Given the description of an element on the screen output the (x, y) to click on. 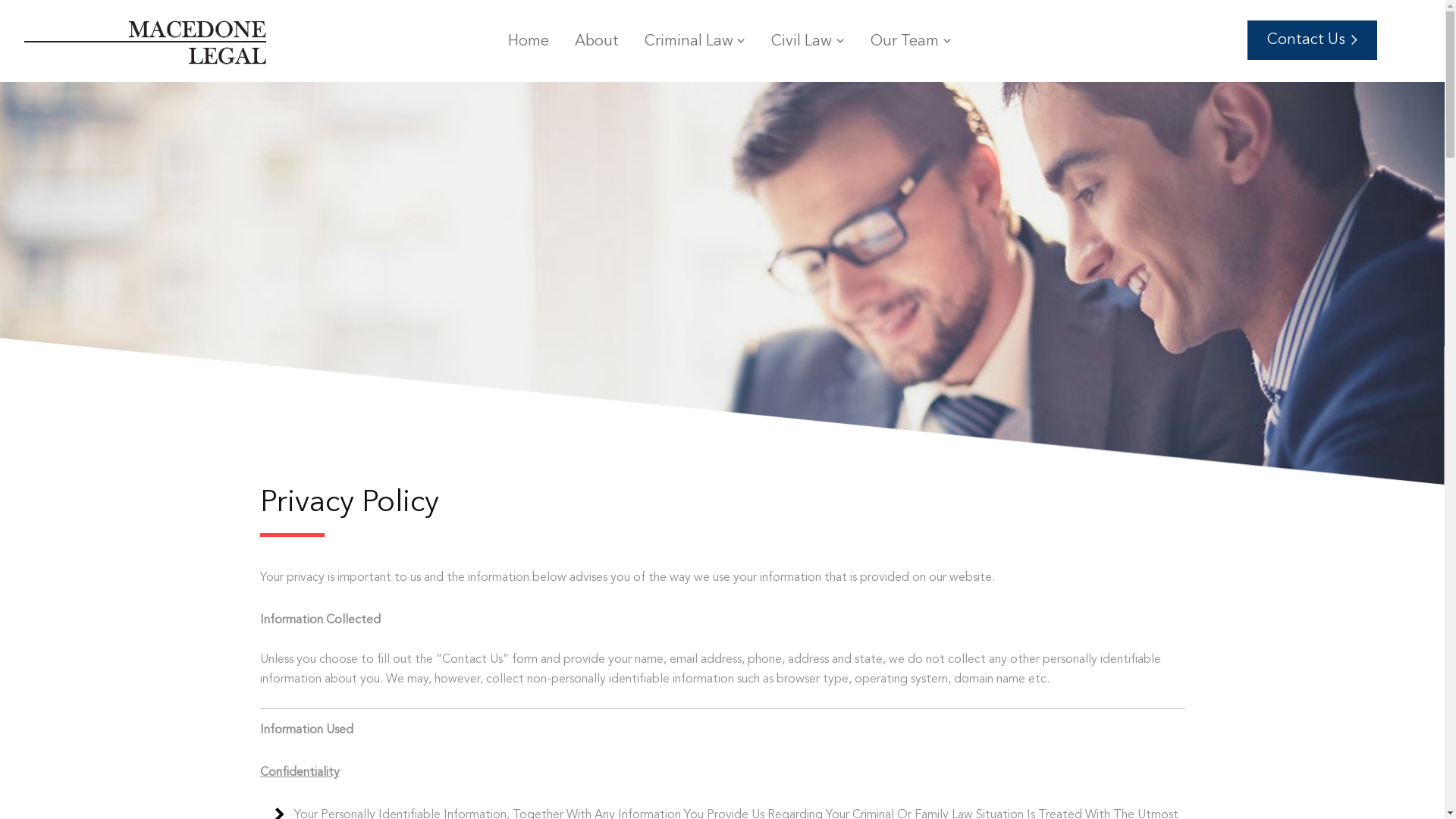
Civil Law Element type: text (801, 51)
Home Element type: text (528, 51)
Contact Us Element type: text (1312, 39)
Criminal Law Element type: text (688, 51)
About Element type: text (596, 51)
Our Team Element type: text (904, 51)
